Given the description of an element on the screen output the (x, y) to click on. 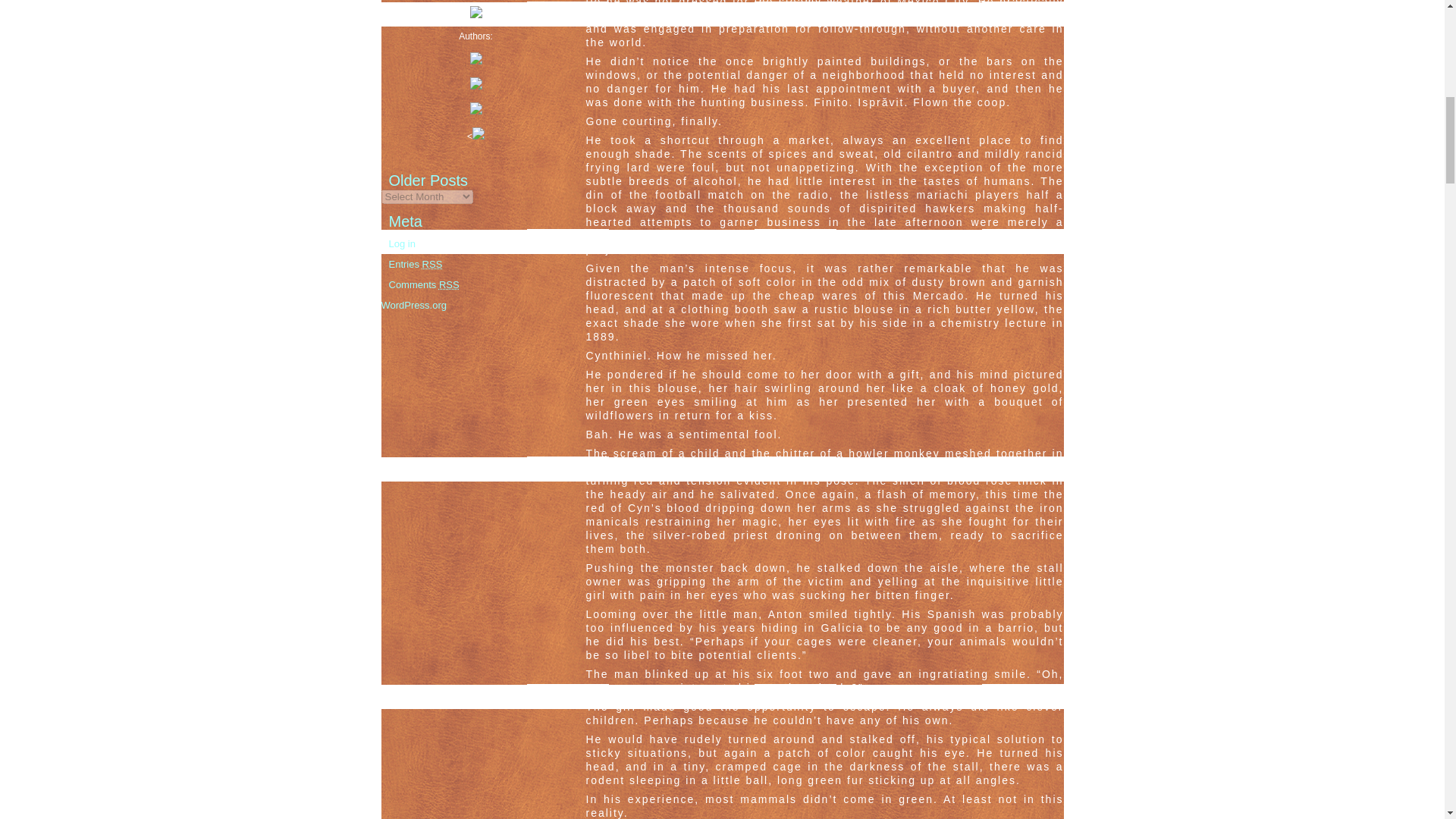
Log in (401, 243)
Entries RSS (415, 264)
Comments RSS (423, 284)
